Given the description of an element on the screen output the (x, y) to click on. 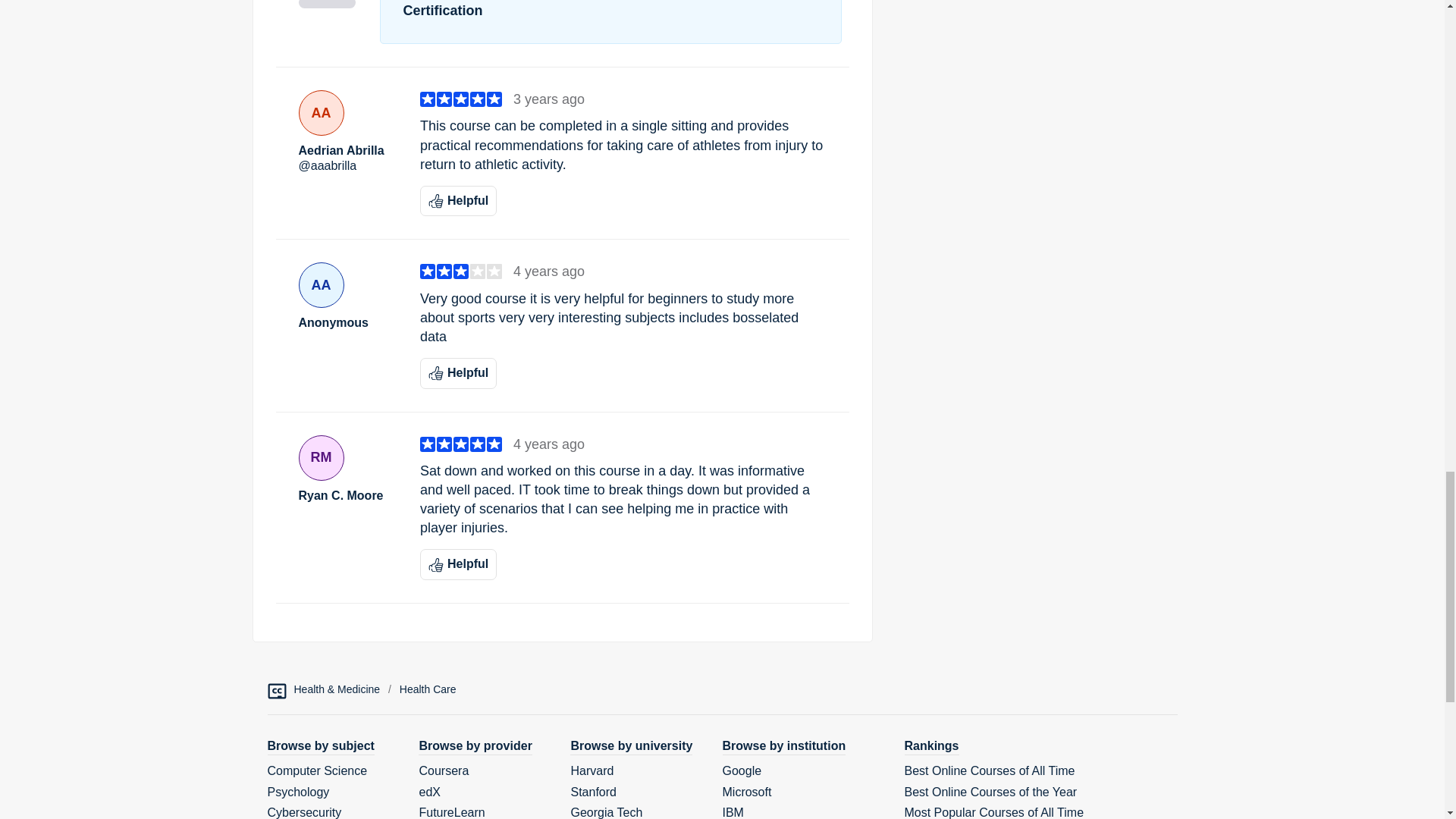
Aedrian Abrilla (347, 150)
Ryan C. Moore (347, 495)
Anonymous (347, 322)
